Given the description of an element on the screen output the (x, y) to click on. 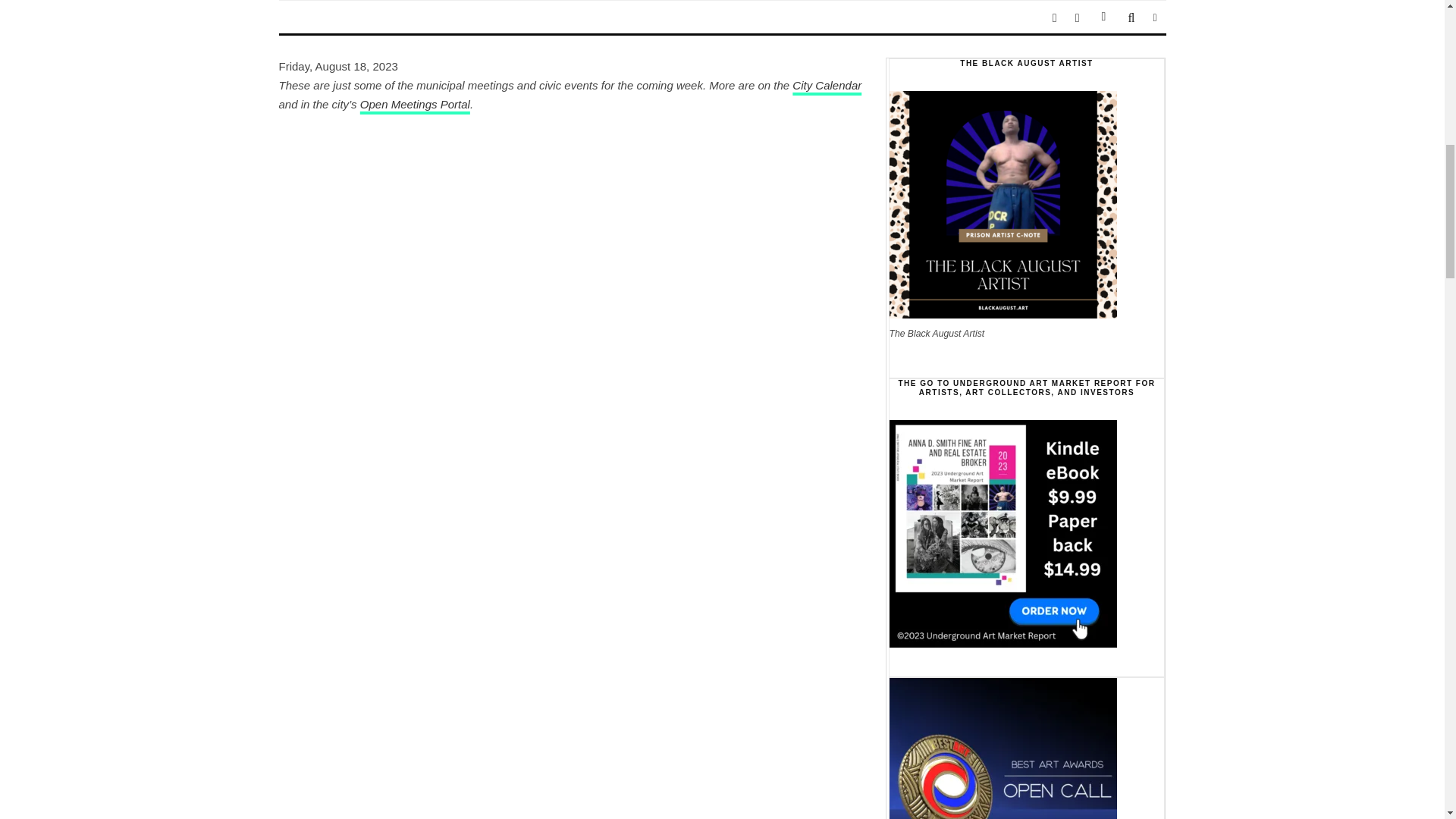
City Calendar (826, 84)
Open Meetings Portal (414, 103)
